Given the description of an element on the screen output the (x, y) to click on. 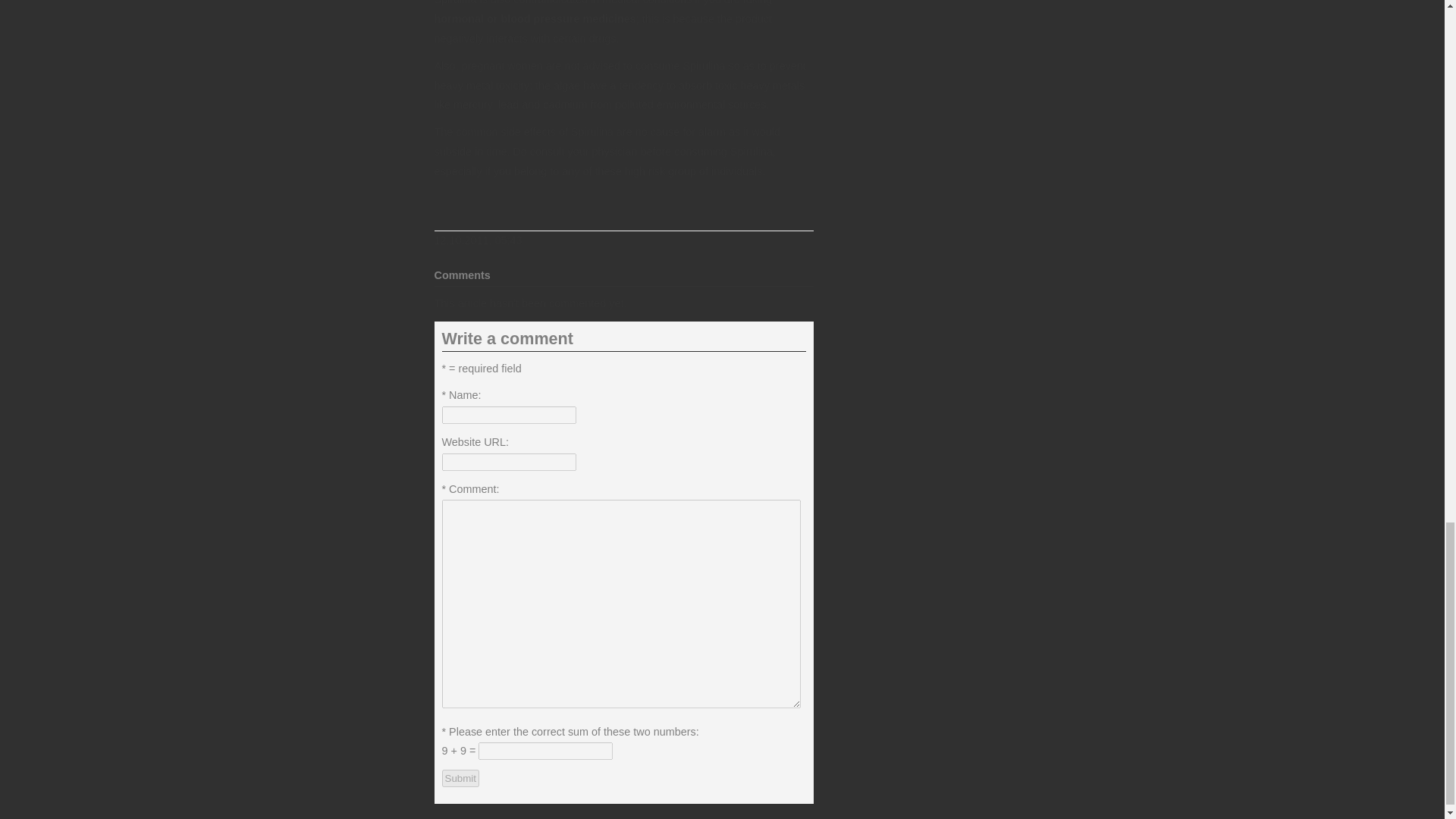
Submit (460, 778)
Submit (460, 778)
